Given the description of an element on the screen output the (x, y) to click on. 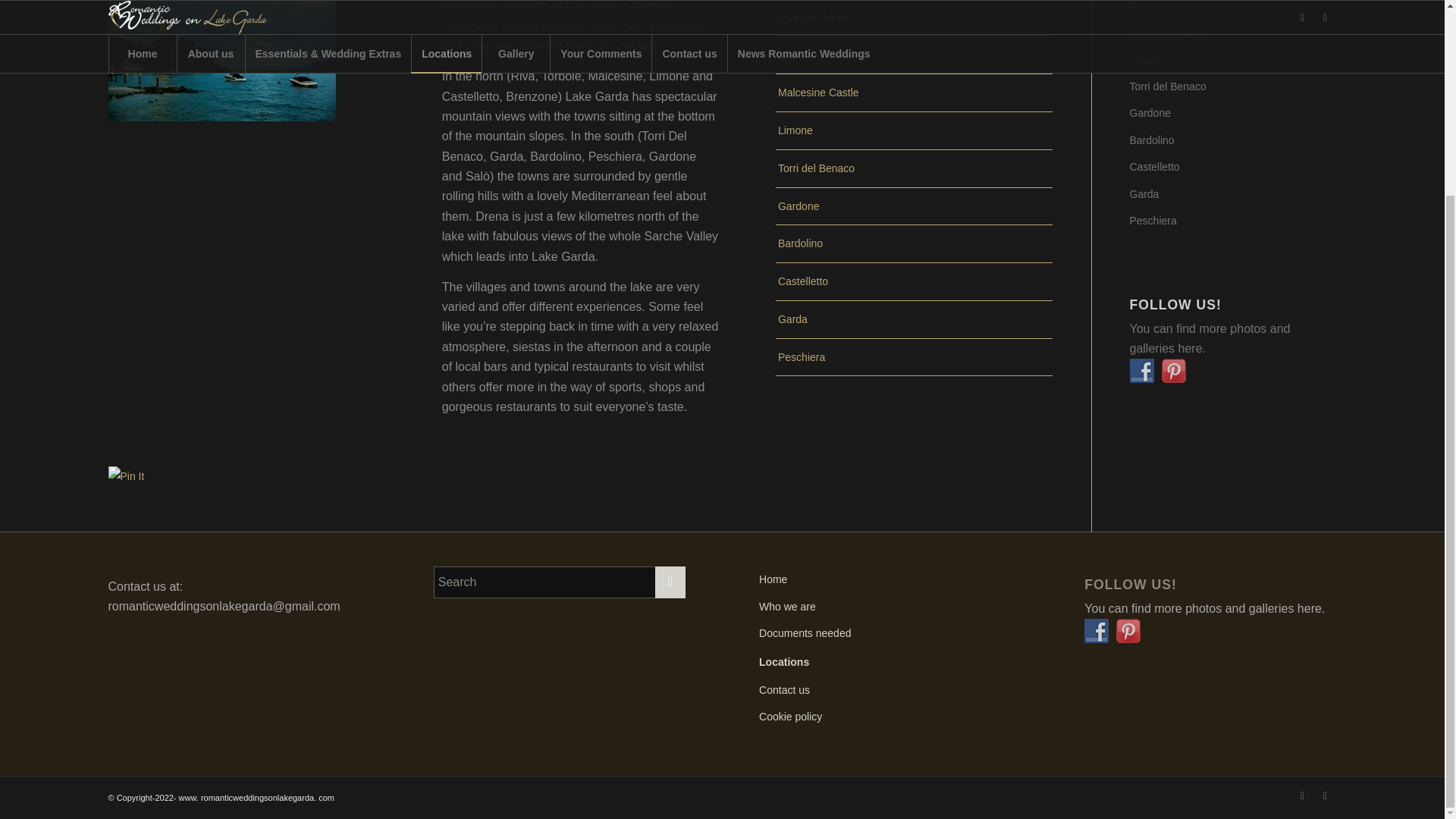
romantic weddings on lake garda (1173, 370)
Riva del Garda (914, 18)
romantic weddings on lake garda (1096, 630)
malcesine-castle-romanticweddingsonlakegarda (220, 60)
Pin It (125, 476)
romantic weddings on lake garda (1128, 630)
romantic weddings on lake garda (1141, 370)
Pinterest (1324, 794)
Facebook (1301, 794)
